Given the description of an element on the screen output the (x, y) to click on. 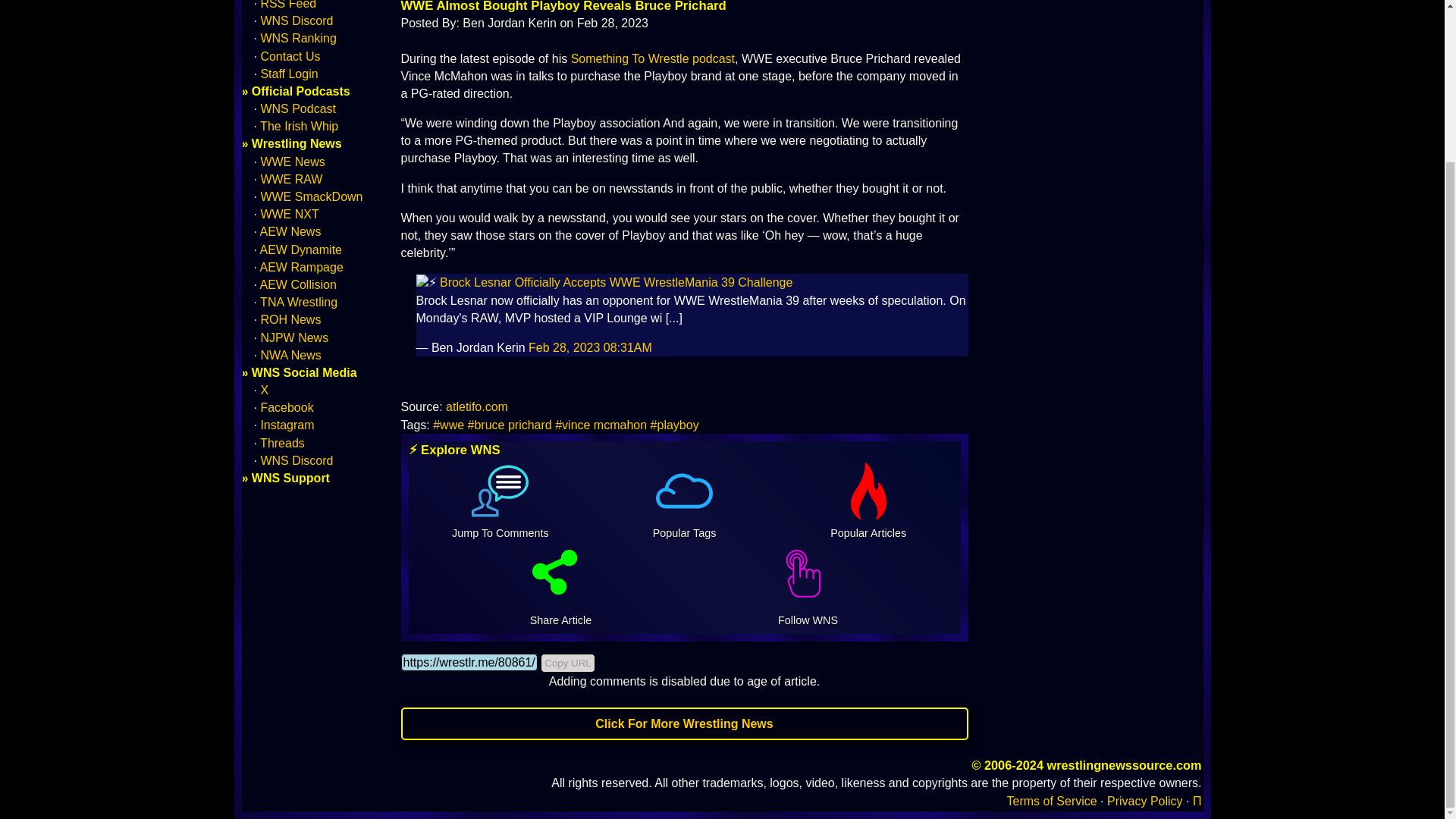
WWE SmackDown (311, 196)
Staff Login (288, 73)
WNS Podcast (298, 108)
Facebook (286, 407)
AEW Collision (298, 284)
RSS Feed (287, 4)
TNA Wrestling (298, 301)
Contact Us (290, 55)
WNS Discord (296, 20)
WNS Ranking (298, 38)
Instagram (287, 424)
AEW News (290, 231)
AEW Dynamite (301, 249)
WWE NXT (289, 214)
NWA News (290, 354)
